Given the description of an element on the screen output the (x, y) to click on. 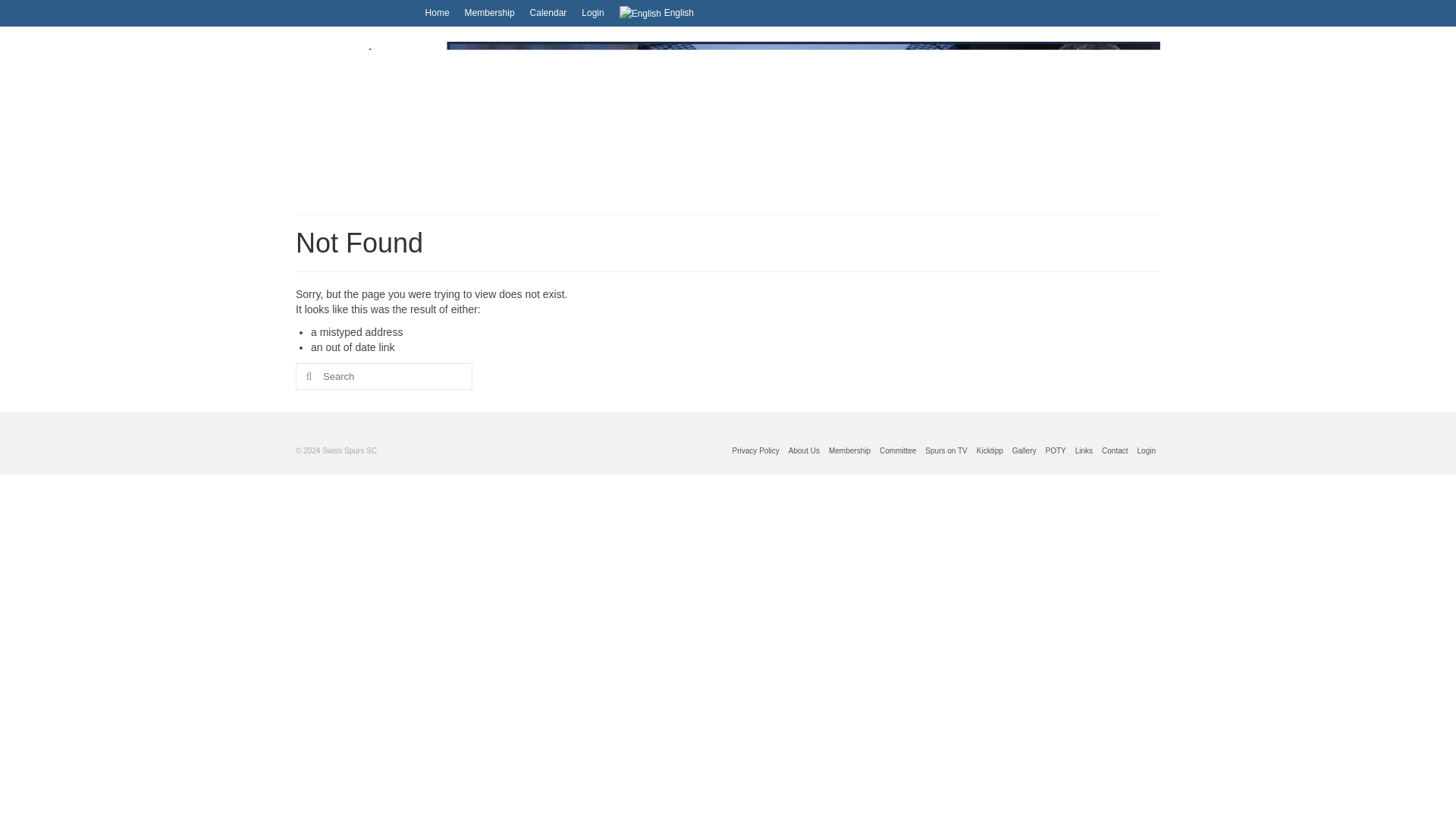
Committee (897, 451)
Spurs on TV (945, 451)
Kicktipp (989, 451)
Login (592, 12)
Membership (849, 451)
Membership (489, 12)
Calendar (548, 12)
Home (437, 12)
POTY (1055, 451)
English (656, 13)
